Given the description of an element on the screen output the (x, y) to click on. 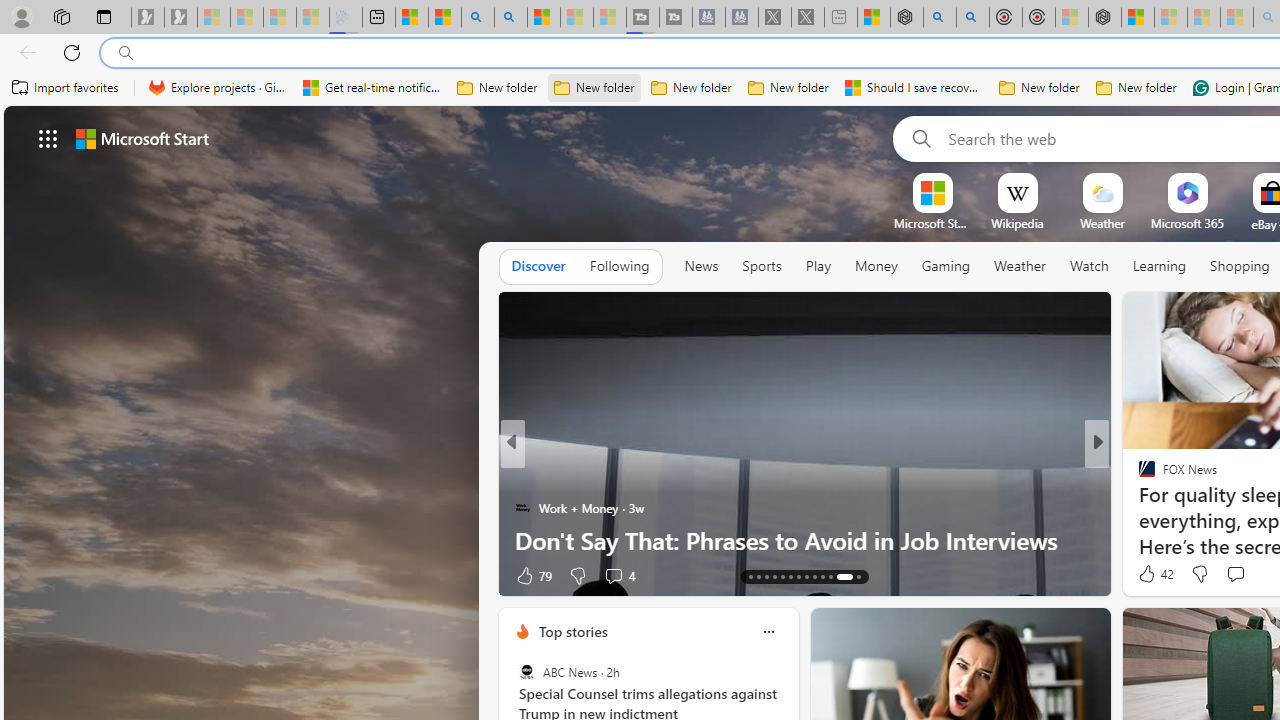
View comments 4 Comment (613, 575)
AutomationID: tab-24 (844, 576)
Newsletter Sign Up - Sleeping (181, 17)
AutomationID: tab-20 (806, 576)
AutomationID: tab-18 (789, 576)
BRAINY DOSE (1138, 475)
